Given the description of an element on the screen output the (x, y) to click on. 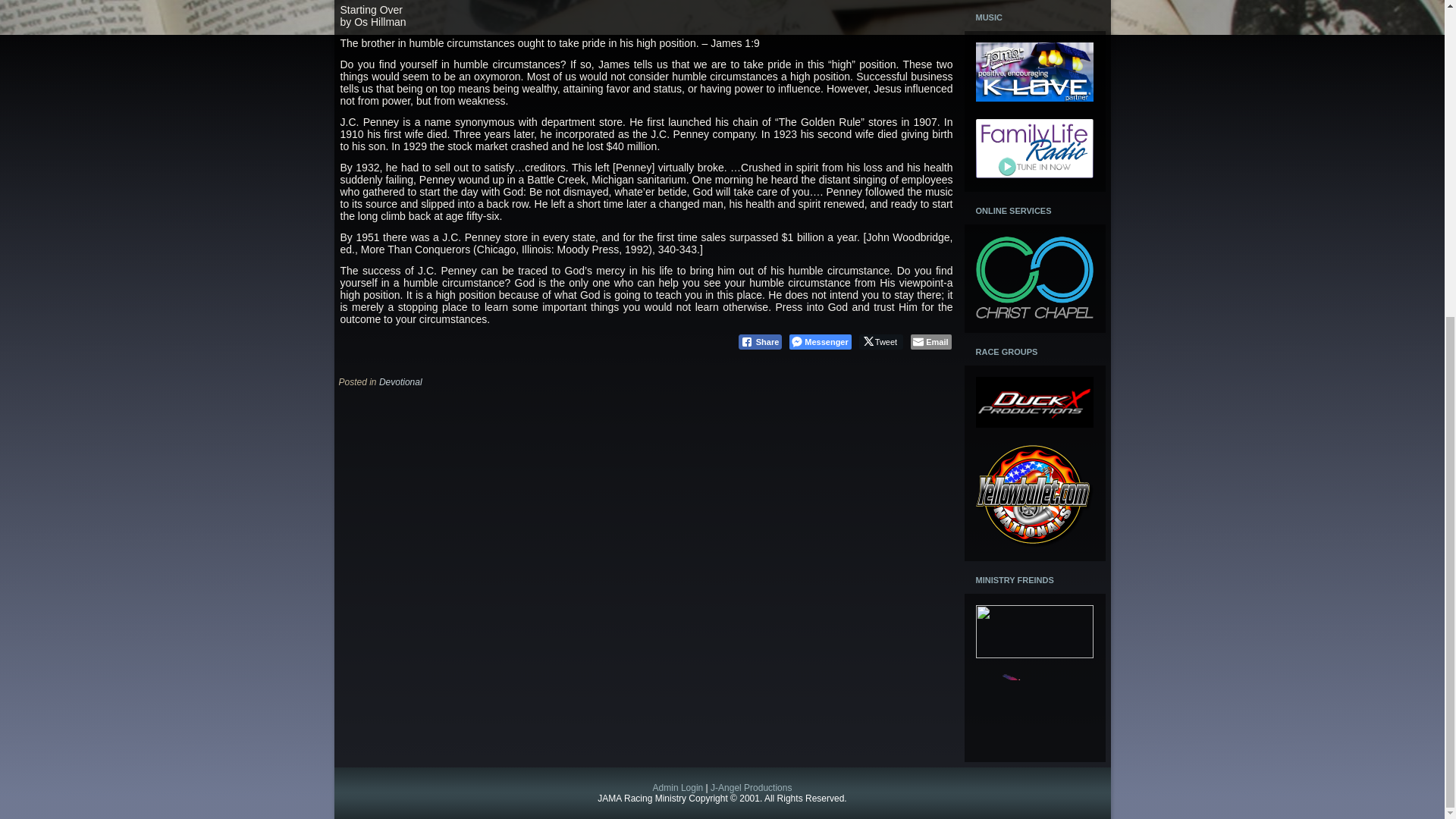
Messenger (819, 341)
Share (760, 341)
Devotional (400, 381)
Email (930, 341)
Tweet (880, 341)
J-Angel Productions (751, 787)
Admin Login (677, 787)
